Given the description of an element on the screen output the (x, y) to click on. 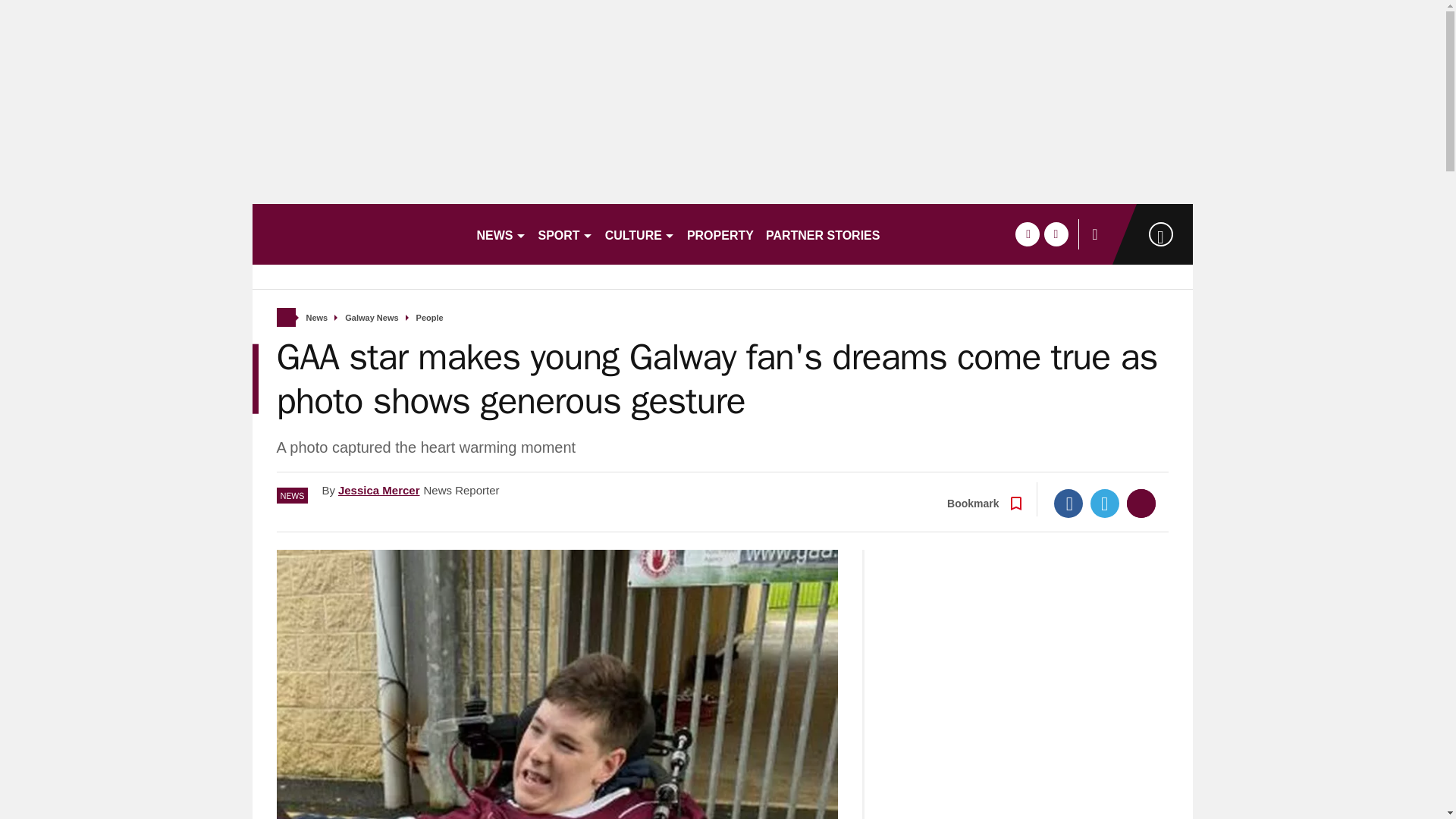
CULTURE (639, 233)
facebook (1026, 233)
Twitter (1104, 502)
SPORT (565, 233)
PARTNER STORIES (823, 233)
galwaybeo (357, 233)
PROPERTY (720, 233)
twitter (1055, 233)
Facebook (1068, 502)
NEWS (500, 233)
